Given the description of an element on the screen output the (x, y) to click on. 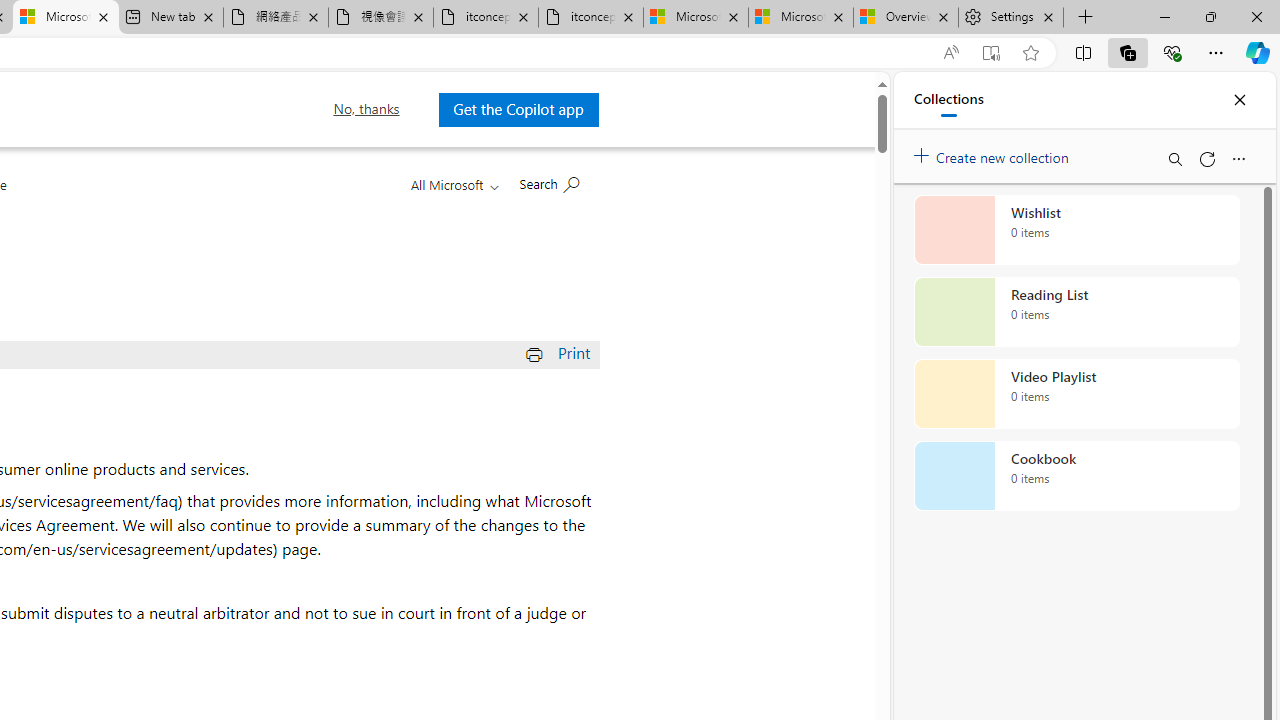
Search Microsoft.com (548, 182)
